Given the description of an element on the screen output the (x, y) to click on. 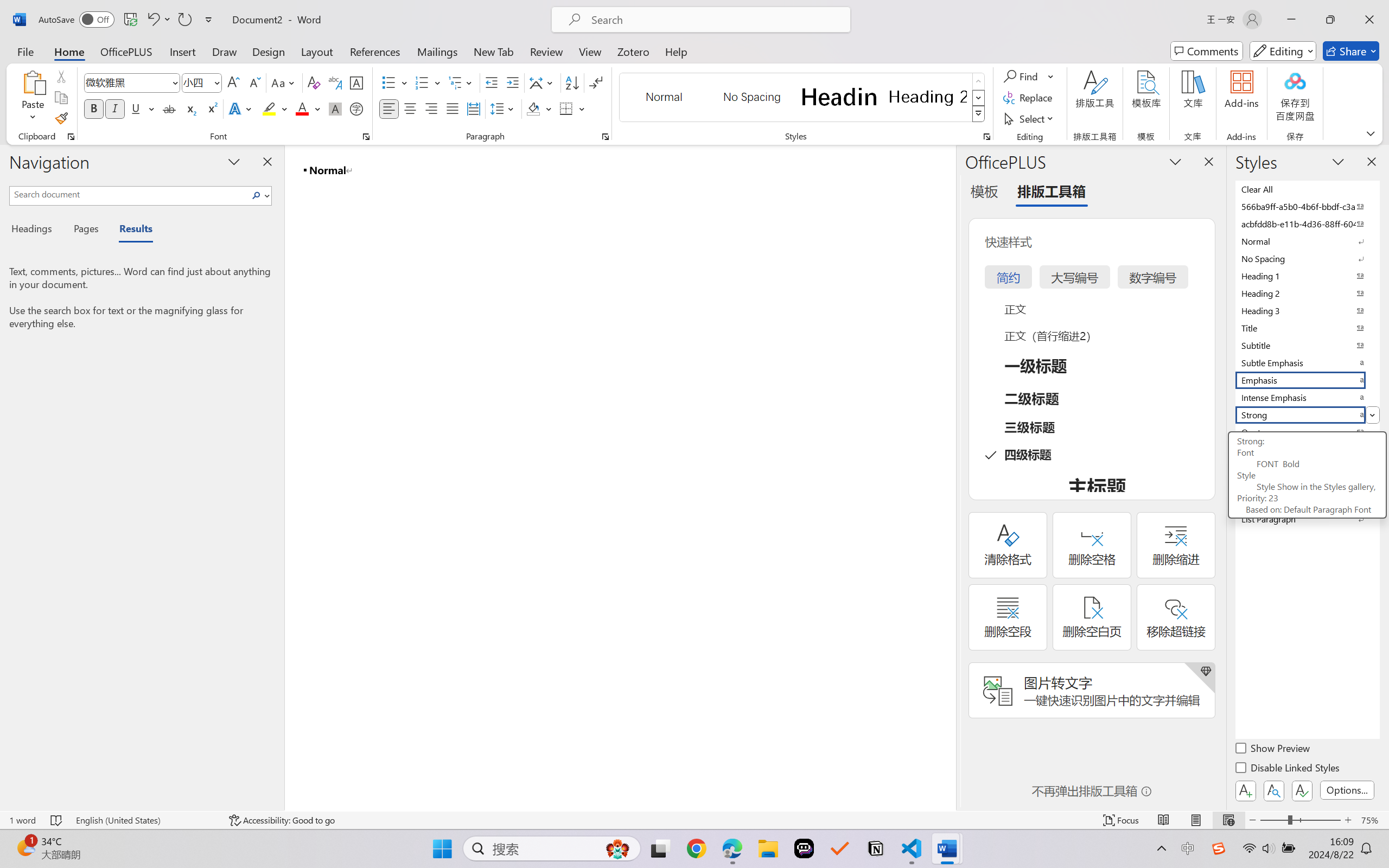
Spelling and Grammar Check No Errors (56, 819)
Replace... (1029, 97)
Microsoft search (715, 19)
Align Right (431, 108)
Subtle Emphasis (1306, 362)
Phonetic Guide... (334, 82)
Undo Style (152, 19)
File Tab (24, 51)
Show/Hide Editing Marks (595, 82)
Focus  (1121, 819)
References (375, 51)
